Given the description of an element on the screen output the (x, y) to click on. 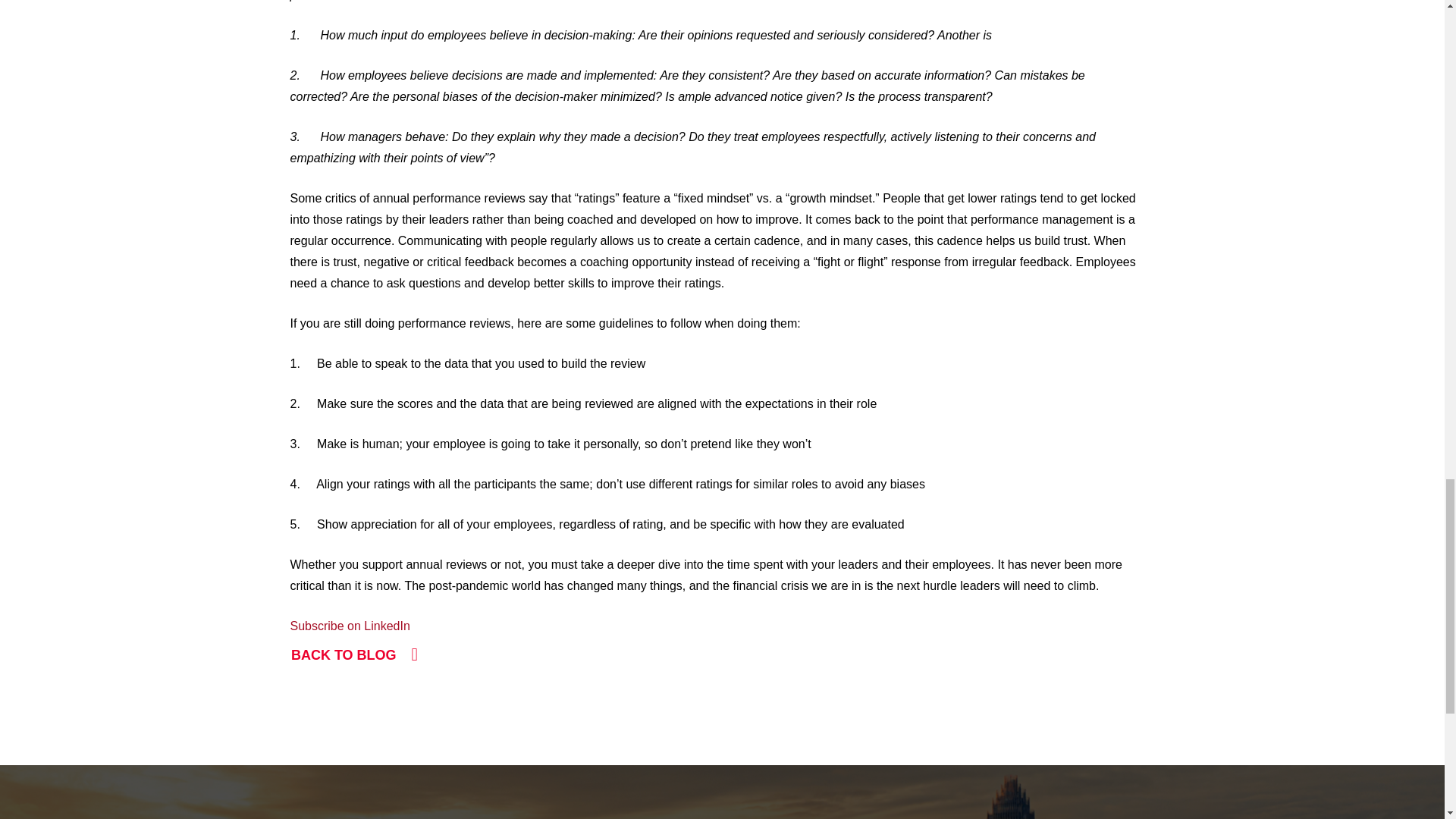
BACK TO BLOG (354, 655)
Subscribe on LinkedIn (349, 625)
